Given the description of an element on the screen output the (x, y) to click on. 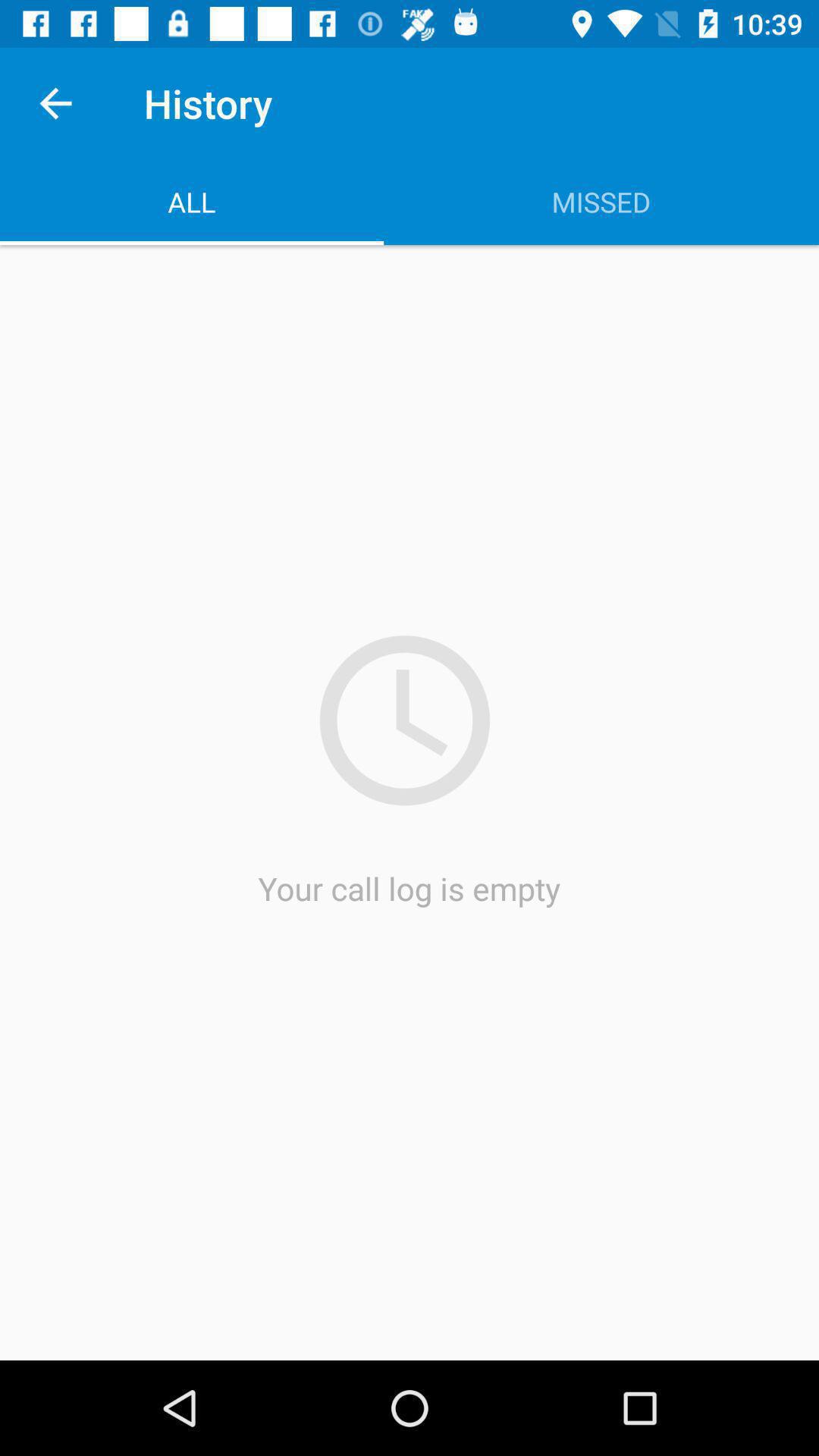
choose the app next to all app (601, 202)
